Given the description of an element on the screen output the (x, y) to click on. 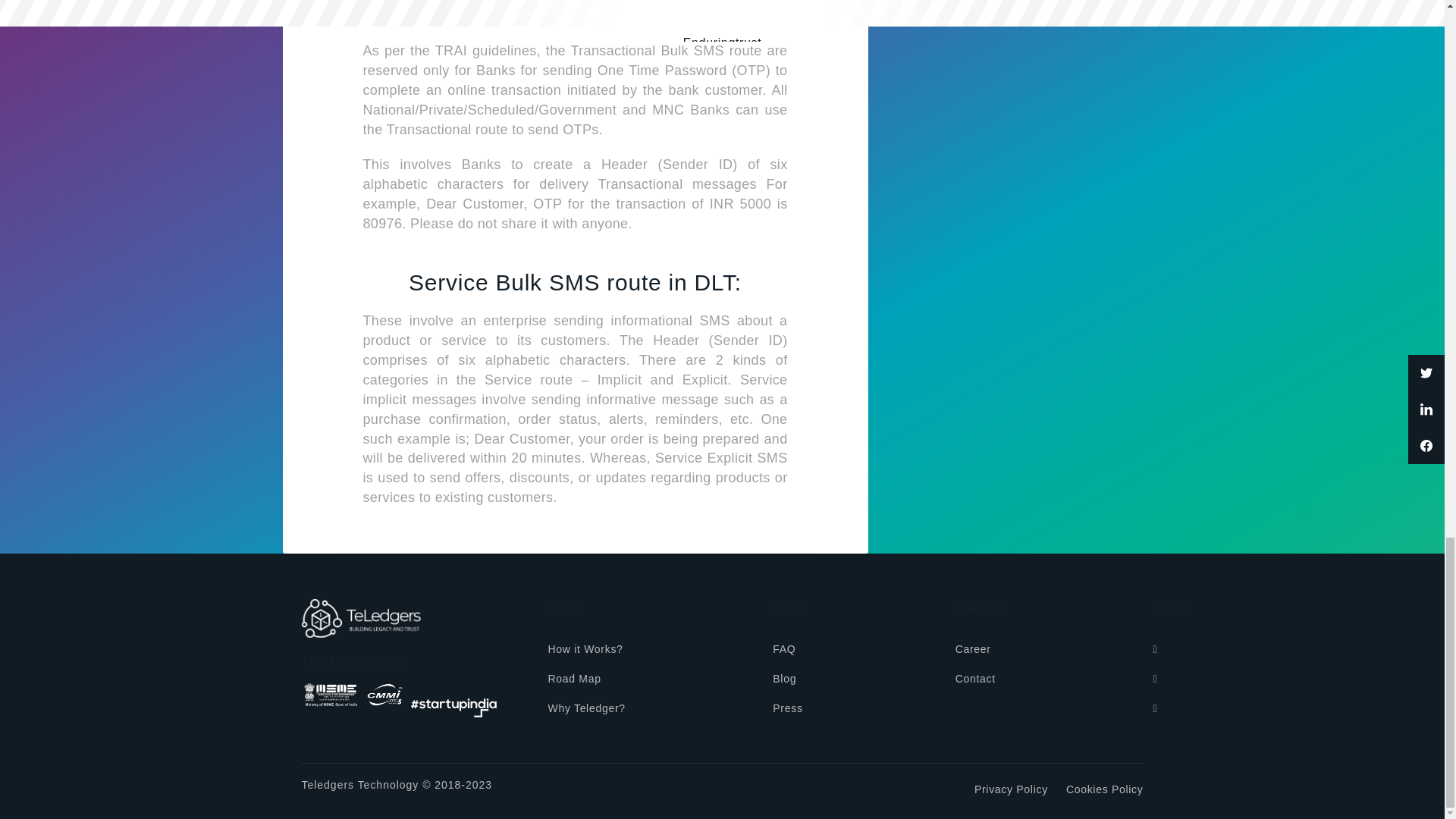
Contact (975, 679)
FAQ (783, 650)
How it Works? (585, 650)
Privacy Policy (1011, 790)
Blog (784, 679)
Career (973, 650)
Why Teledger? (585, 709)
Press (787, 709)
Road Map (573, 679)
